Given the description of an element on the screen output the (x, y) to click on. 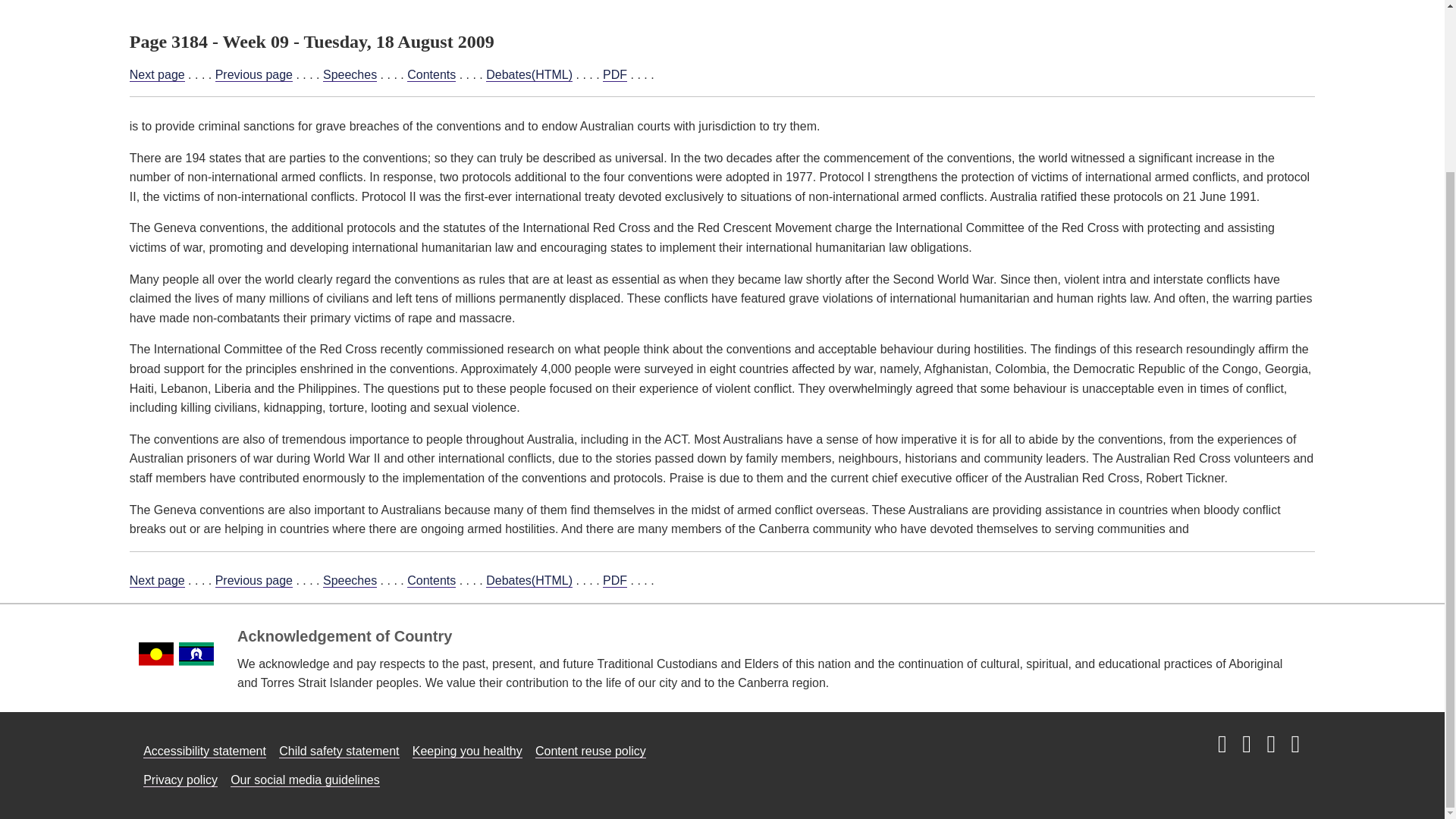
Keeping you healthy (467, 751)
Speeches (350, 581)
Contents (431, 581)
Read our access and inclusion statement (204, 751)
Next page (156, 74)
Content reuse policy (590, 751)
Previous page (253, 74)
PDF (614, 581)
Read our child safety committment (338, 751)
Privacy policy (179, 780)
Read our social media guidelines (305, 780)
Previous page (253, 581)
Read about how we're keeping our Assembly healthy (467, 751)
Contents (431, 74)
PDF (614, 74)
